Given the description of an element on the screen output the (x, y) to click on. 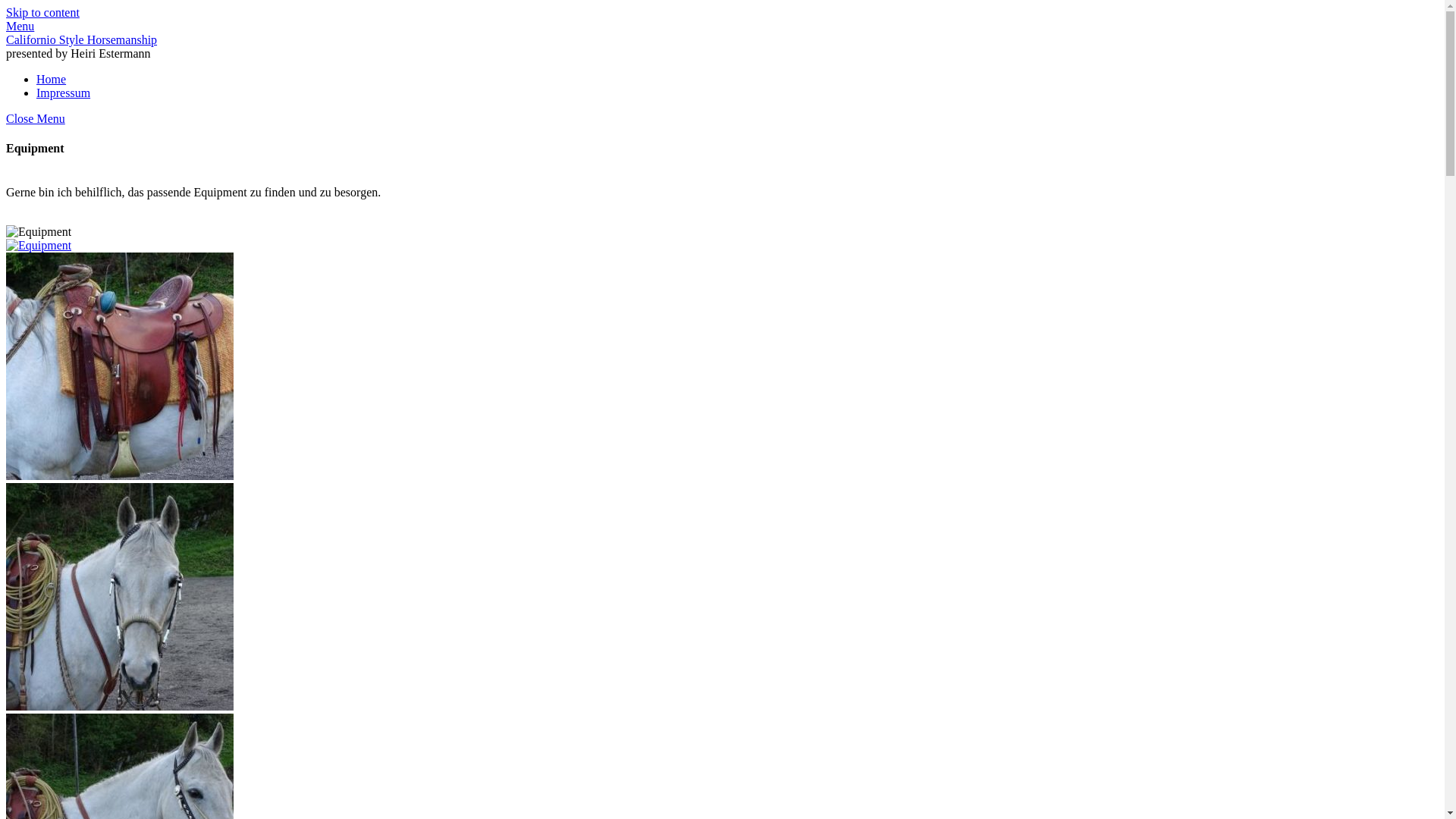
Equipment Element type: hover (38, 231)
Equipment Element type: hover (38, 245)
Impressum Element type: text (63, 92)
Equipment Element type: hover (119, 596)
Skip to content Element type: text (42, 12)
Equipment Element type: hover (119, 366)
Close Menu Element type: text (35, 118)
Menu Element type: text (20, 25)
Californio Style Horsemanship Element type: text (81, 39)
Home Element type: text (50, 78)
